Given the description of an element on the screen output the (x, y) to click on. 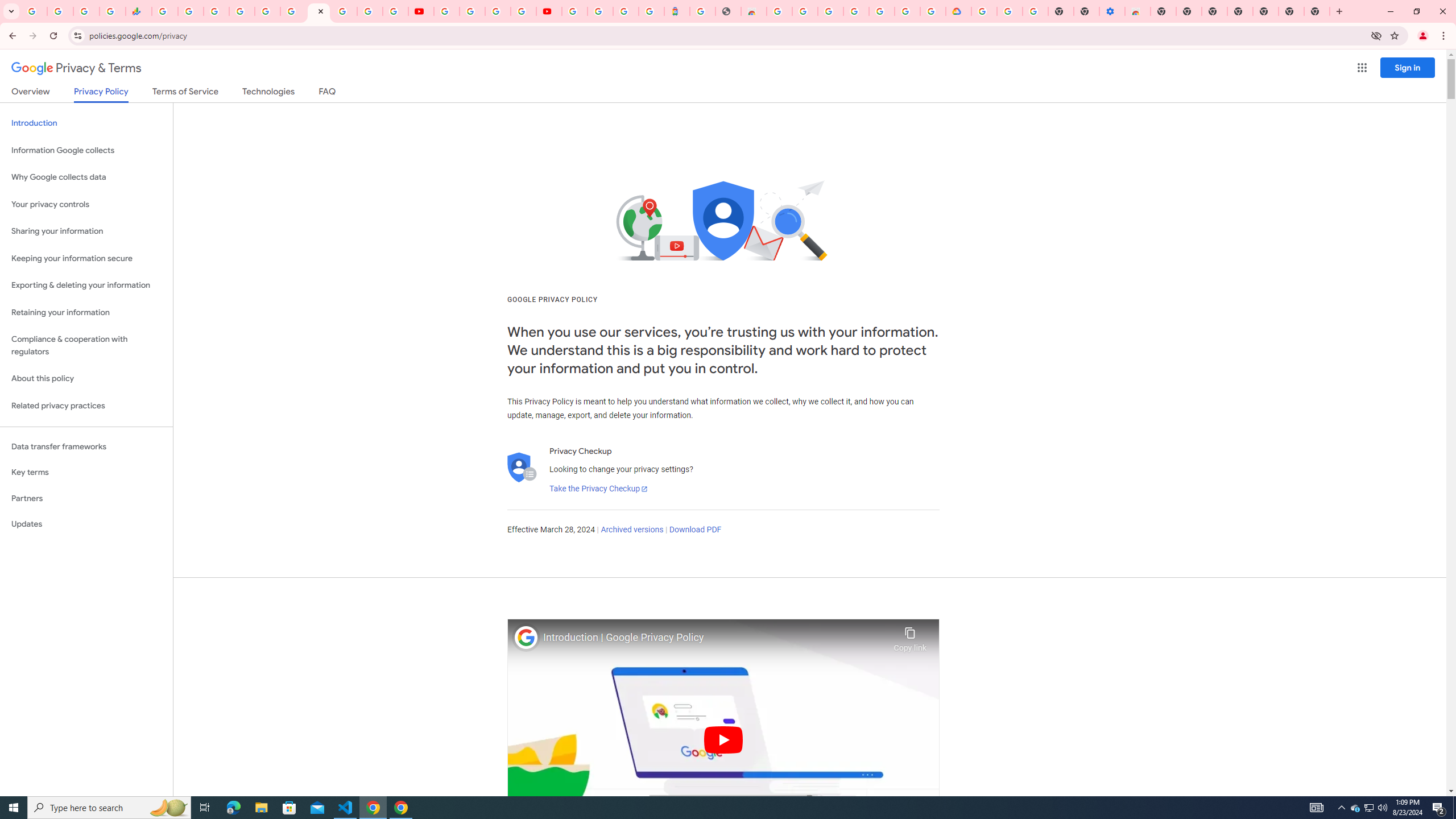
Create your Google Account (497, 11)
YouTube (421, 11)
Partners (86, 497)
Keeping your information secure (86, 258)
Sign in - Google Accounts (830, 11)
New Tab (1265, 11)
